Given the description of an element on the screen output the (x, y) to click on. 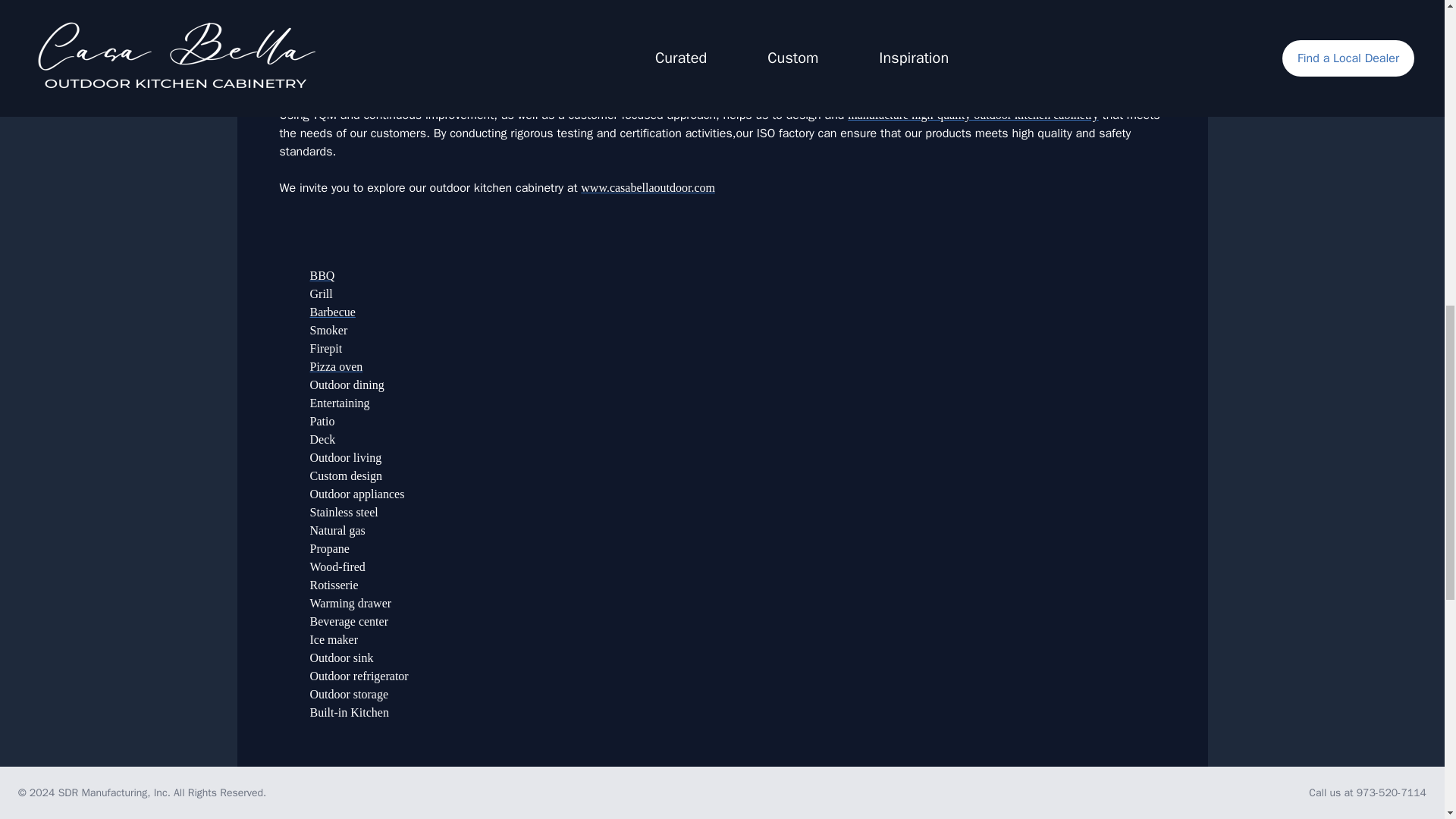
manufacture high-quality outdoor kitchen cabinetry (973, 114)
Barbecue (331, 311)
BBQ (321, 275)
Pizza oven (335, 366)
www.casabellaoutdoor.com (647, 187)
